Given the description of an element on the screen output the (x, y) to click on. 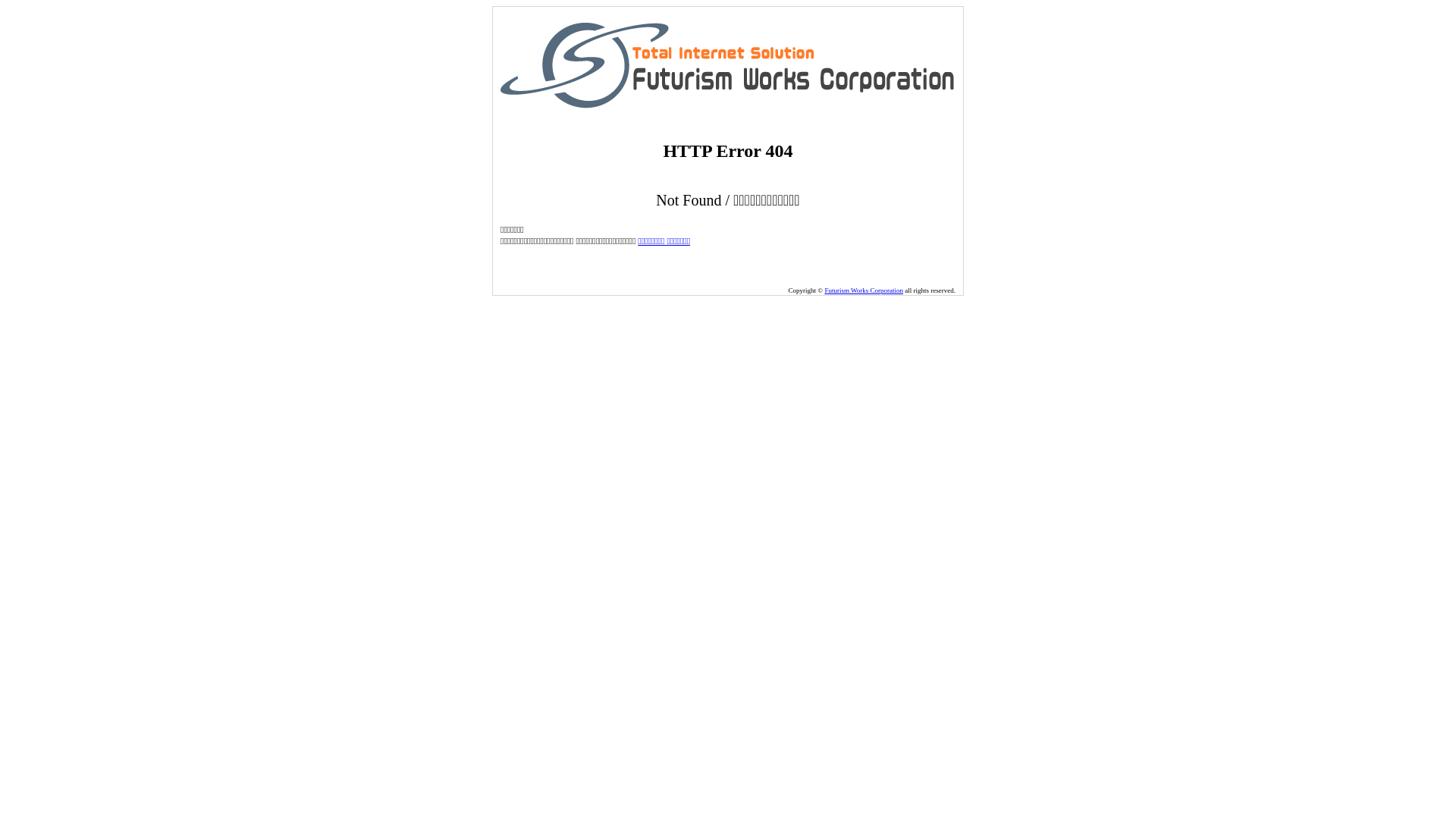
Futurism Works Corporation Element type: text (863, 290)
